Given the description of an element on the screen output the (x, y) to click on. 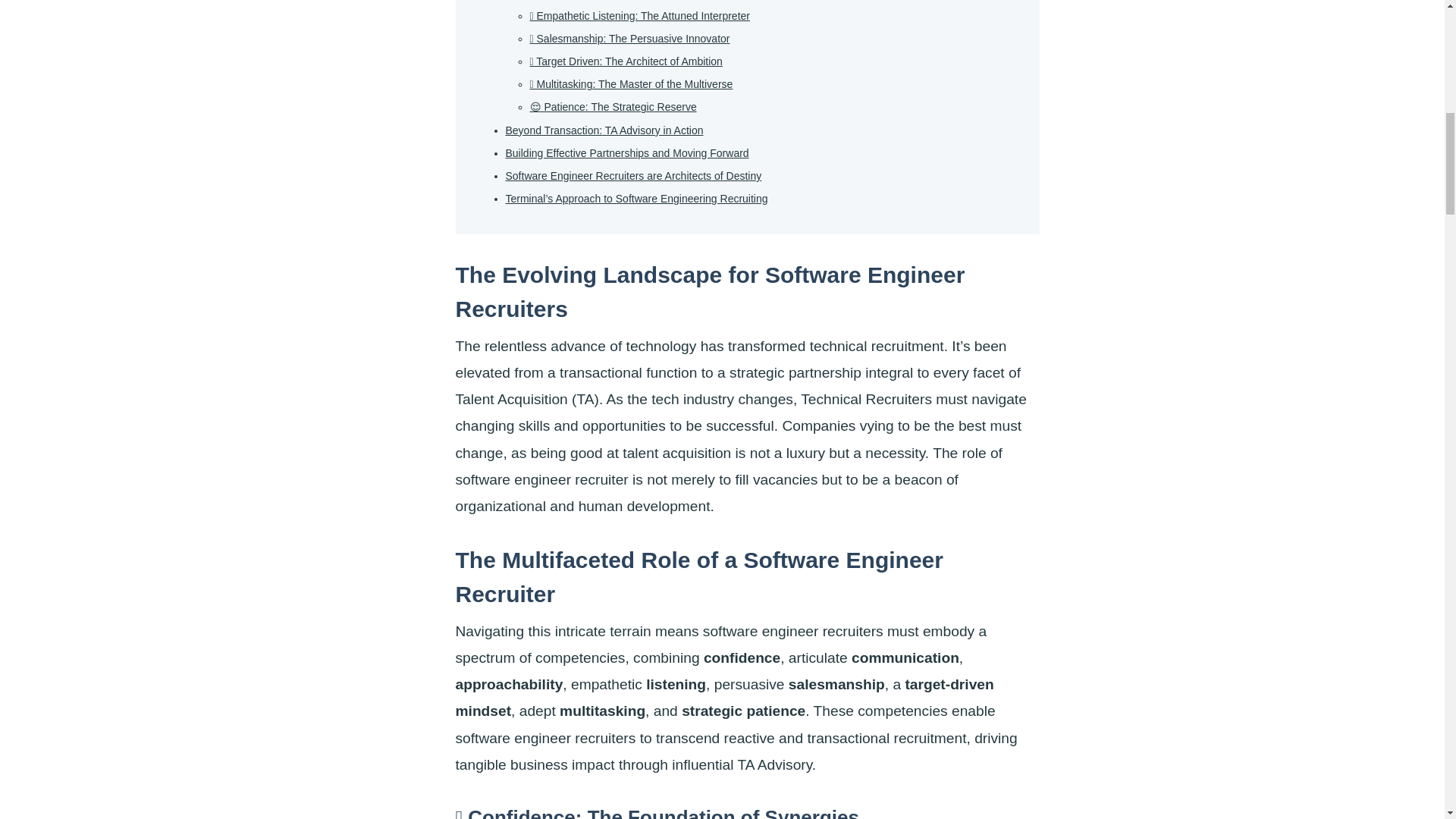
Beyond Transaction: TA Advisory in Action (604, 130)
Building Effective Partnerships and Moving Forward (626, 153)
Software Engineer Recruiters are Architects of Destiny (633, 176)
